Given the description of an element on the screen output the (x, y) to click on. 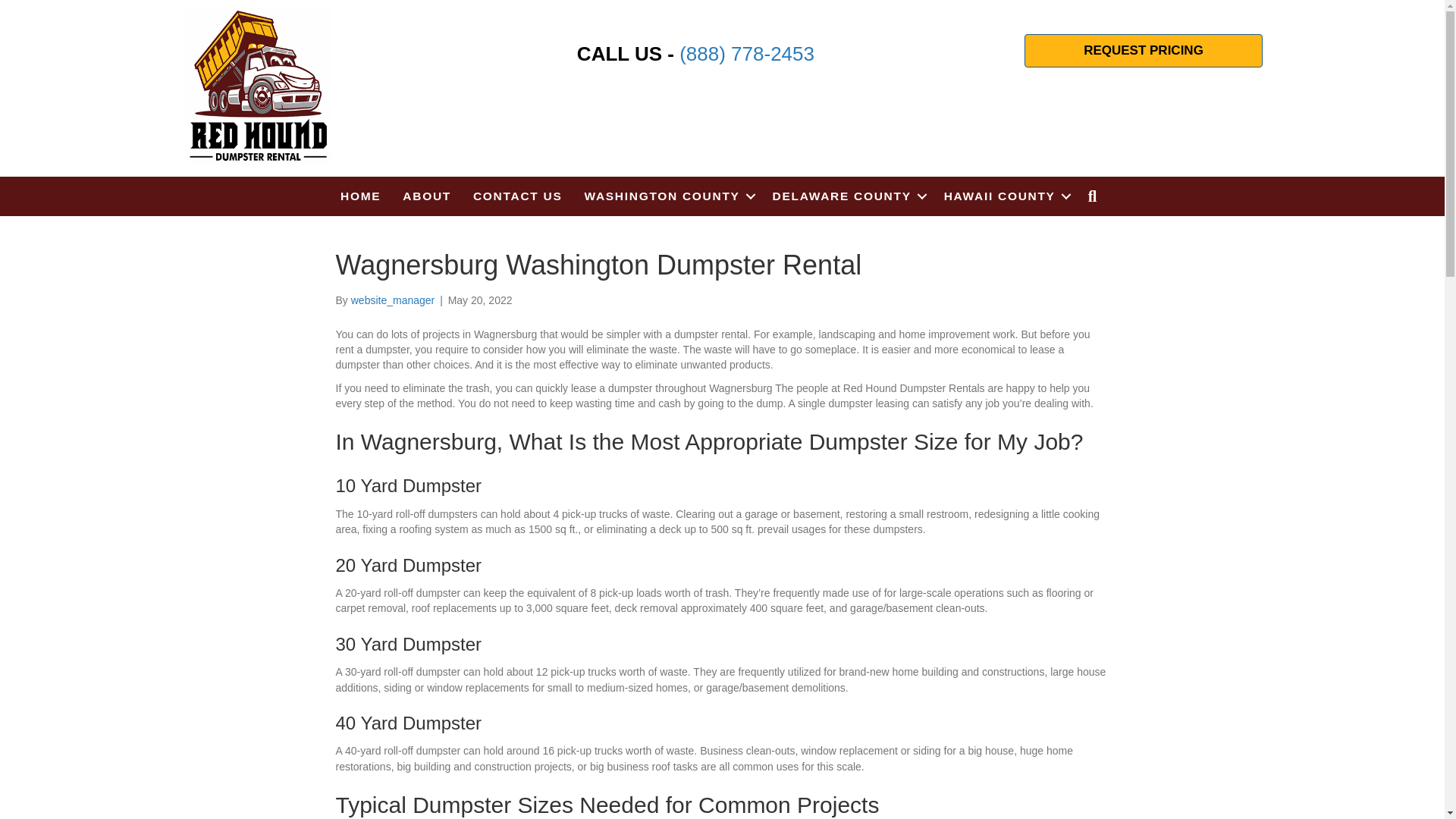
CONTACT US (517, 196)
WASHINGTON COUNTY (666, 196)
HOME (360, 196)
HAWAII COUNTY (1005, 196)
REQUEST PRICING (1144, 50)
redhounddumpster (258, 86)
ABOUT (426, 196)
DELAWARE COUNTY (847, 196)
SEARCH (1096, 195)
